Given the description of an element on the screen output the (x, y) to click on. 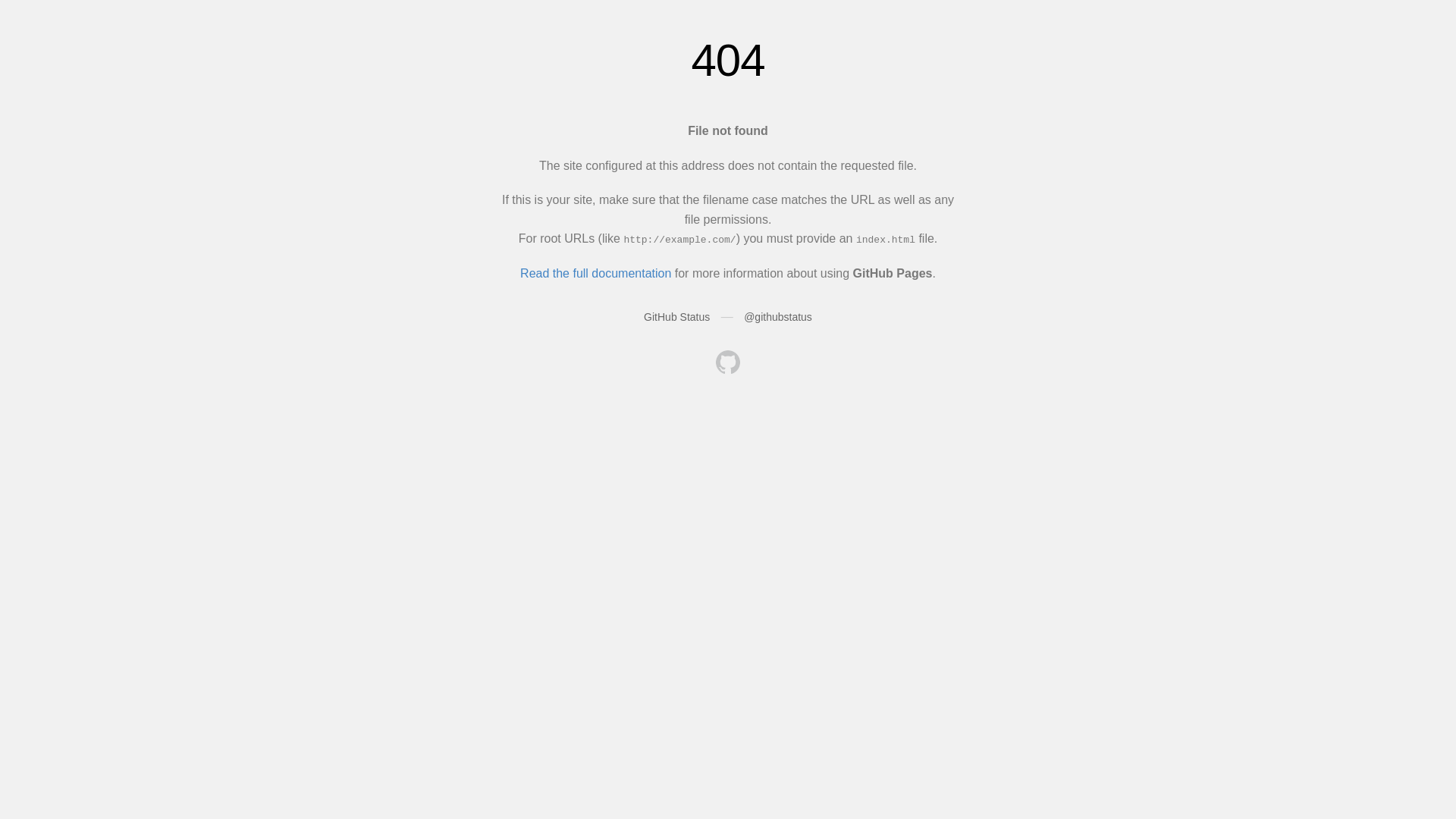
GitHub Status Element type: text (676, 316)
Read the full documentation Element type: text (595, 272)
@githubstatus Element type: text (777, 316)
